Given the description of an element on the screen output the (x, y) to click on. 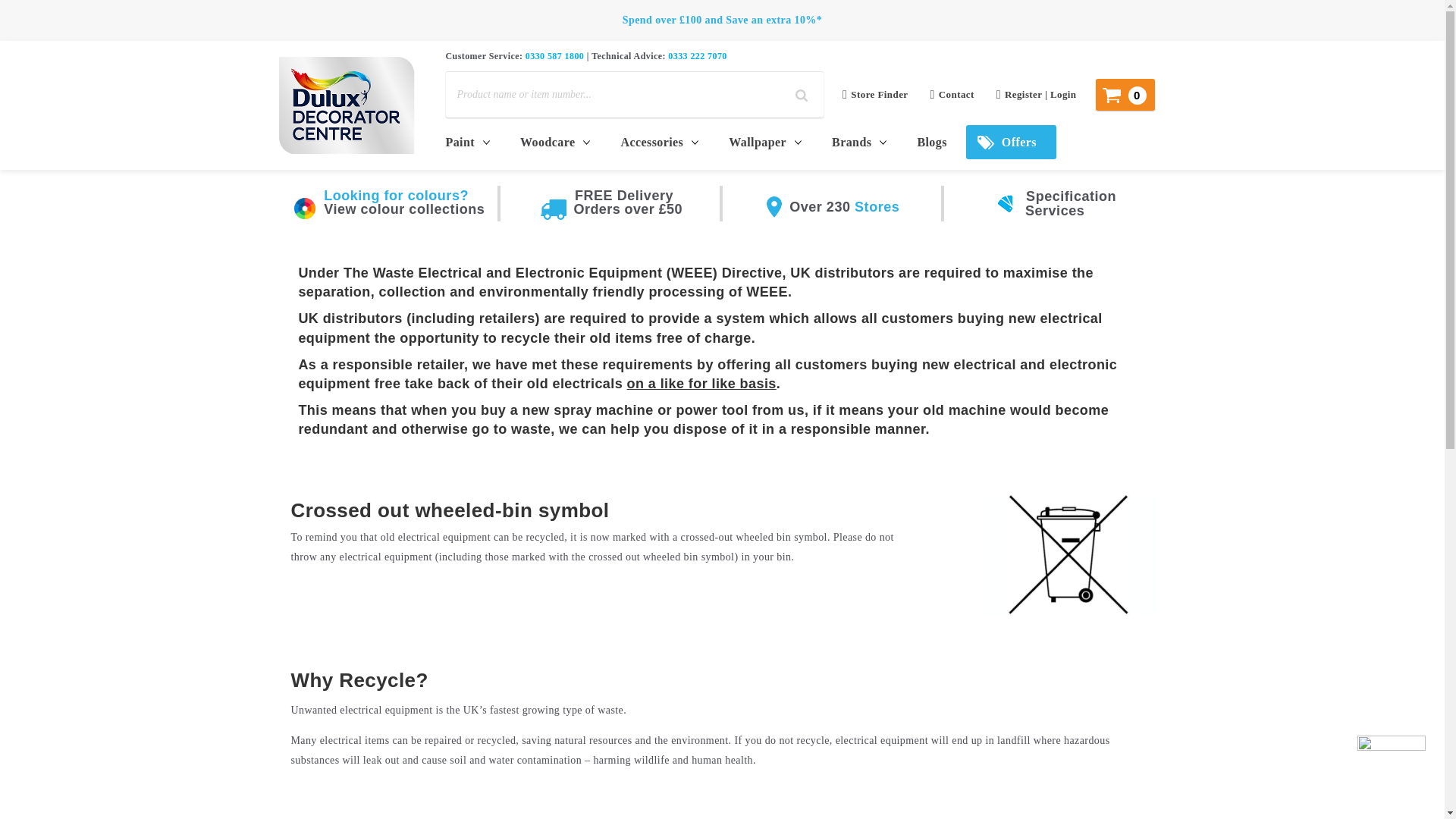
0 (1125, 94)
Search products (802, 96)
Contact (952, 94)
0333 222 7070 (697, 55)
Store Finder (875, 94)
Paint (473, 141)
Woodcare (550, 141)
0330 587 1800 (554, 55)
